Given the description of an element on the screen output the (x, y) to click on. 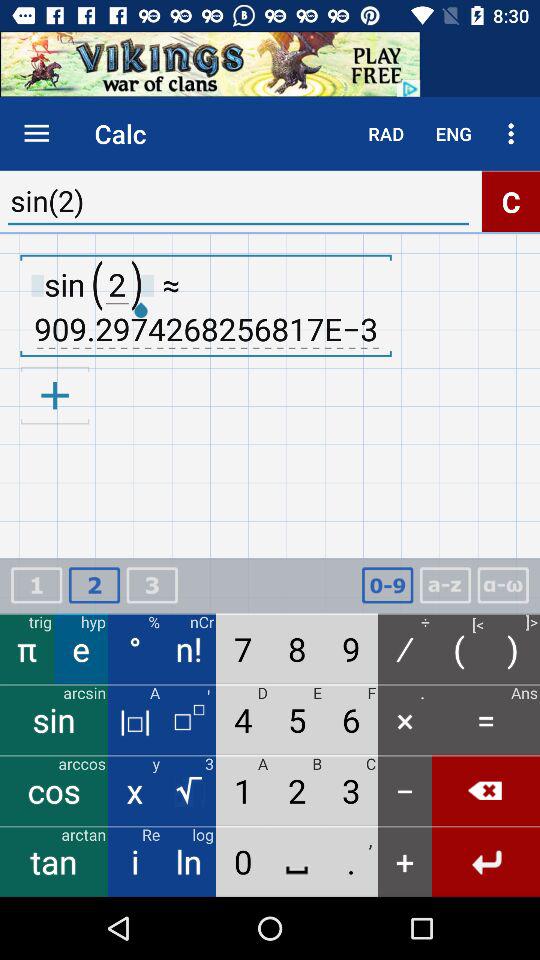
calculator box (503, 585)
